Given the description of an element on the screen output the (x, y) to click on. 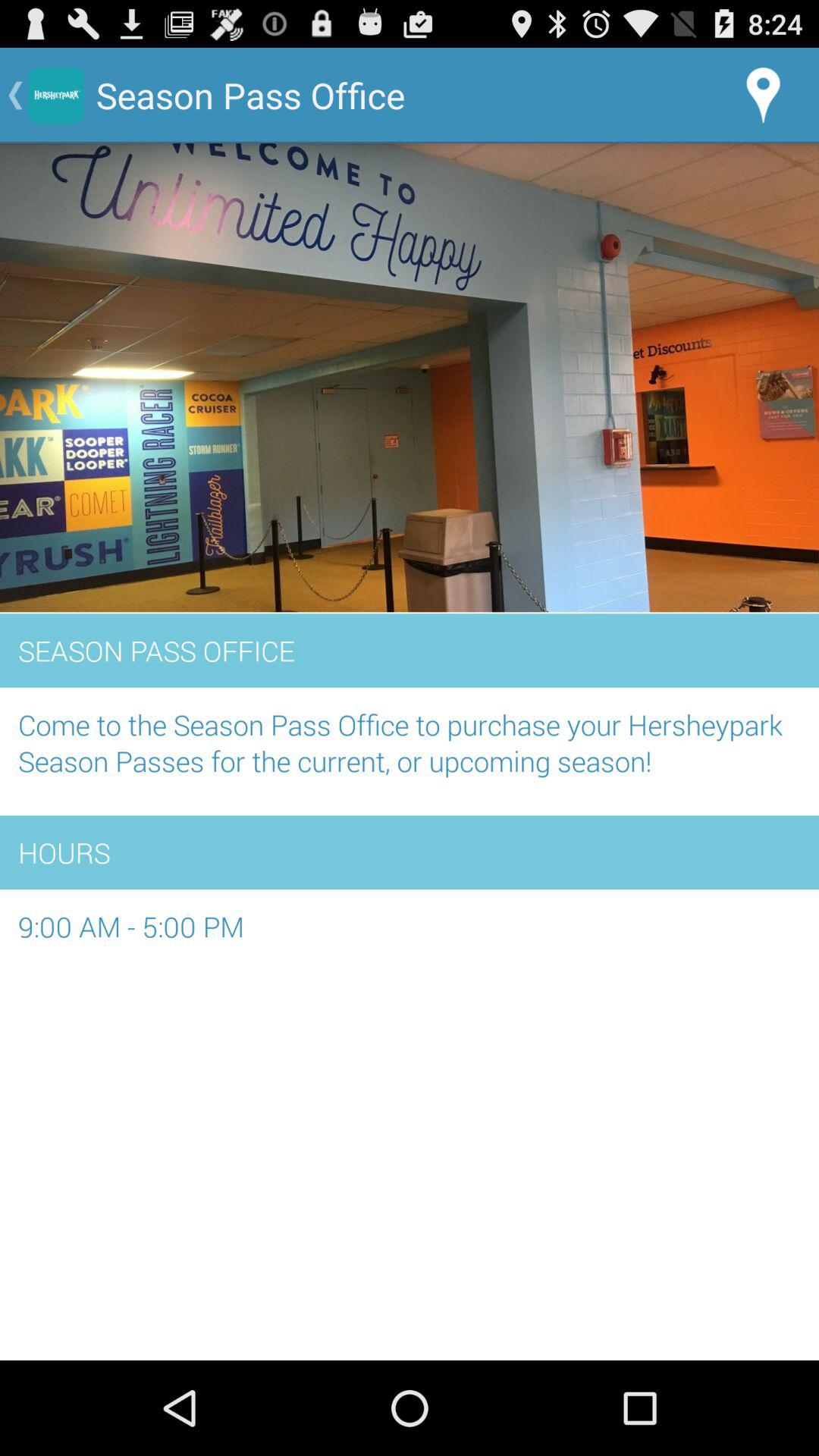
swipe to the hours (409, 852)
